Given the description of an element on the screen output the (x, y) to click on. 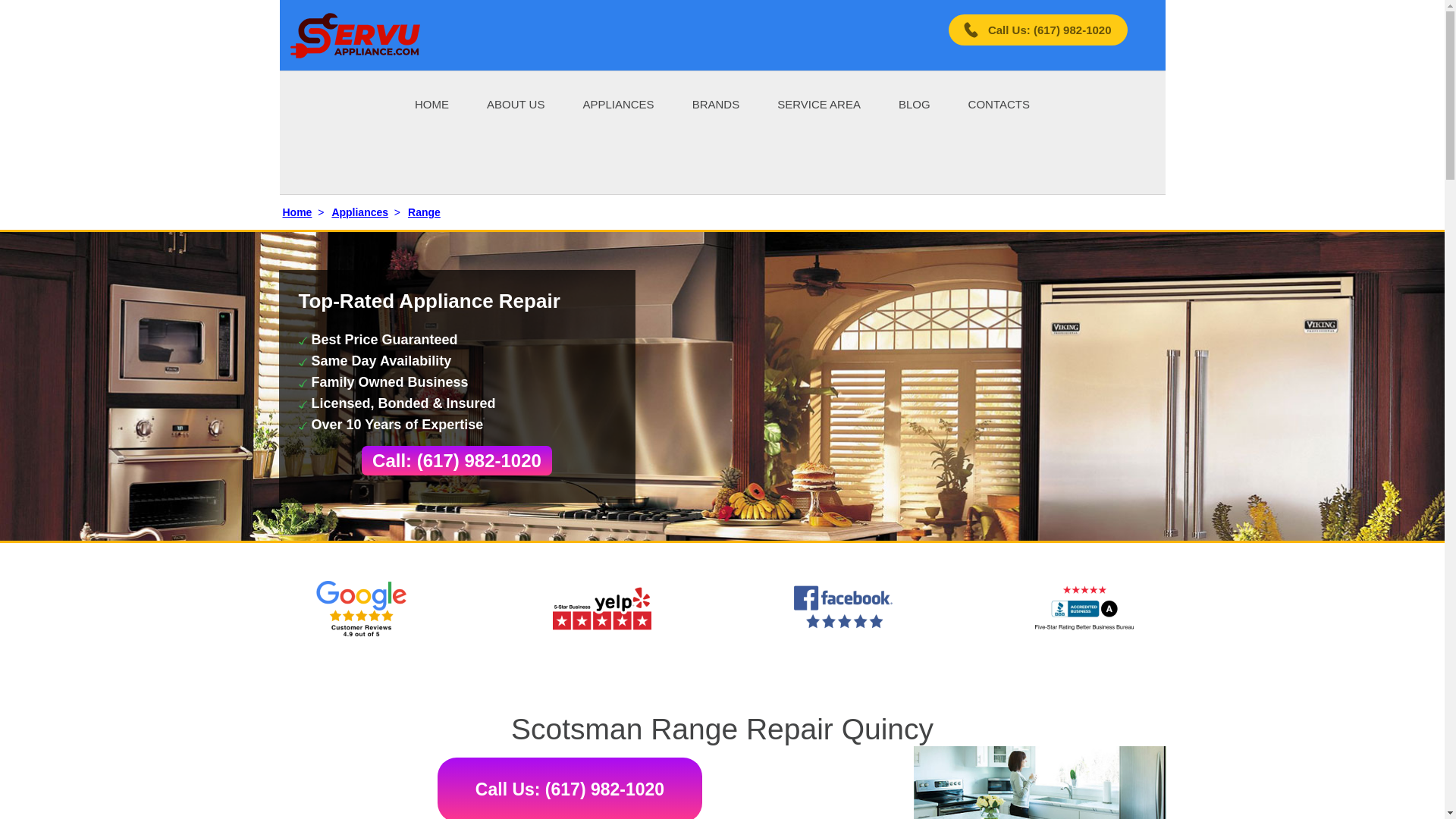
BRANDS (715, 103)
HOME (431, 103)
APPLIANCES (617, 103)
ABOUT US (515, 103)
